Given the description of an element on the screen output the (x, y) to click on. 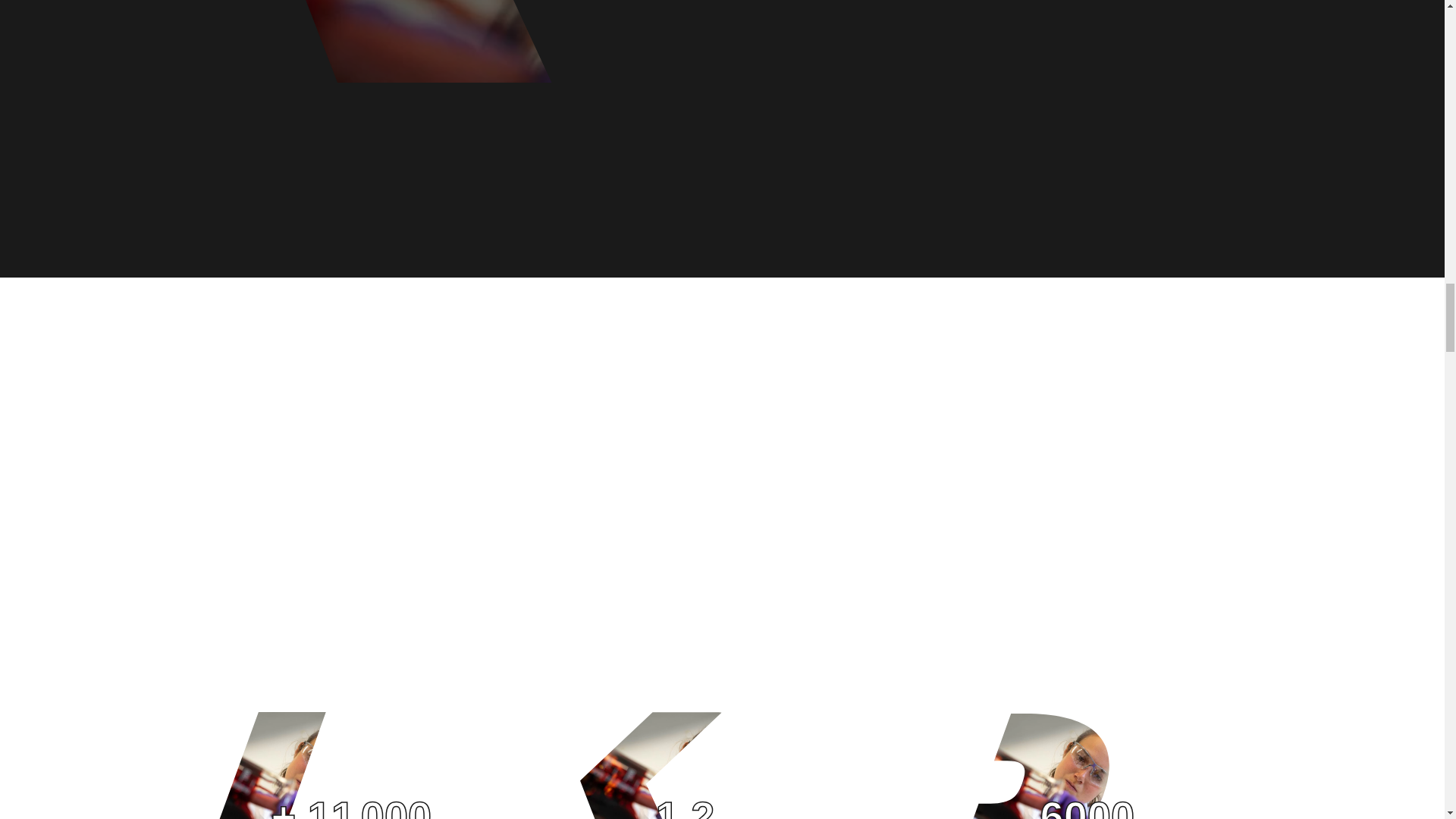
header openinno 2 (266, 765)
header openinno 2 (1034, 765)
header openinno 2 (649, 765)
